Given the description of an element on the screen output the (x, y) to click on. 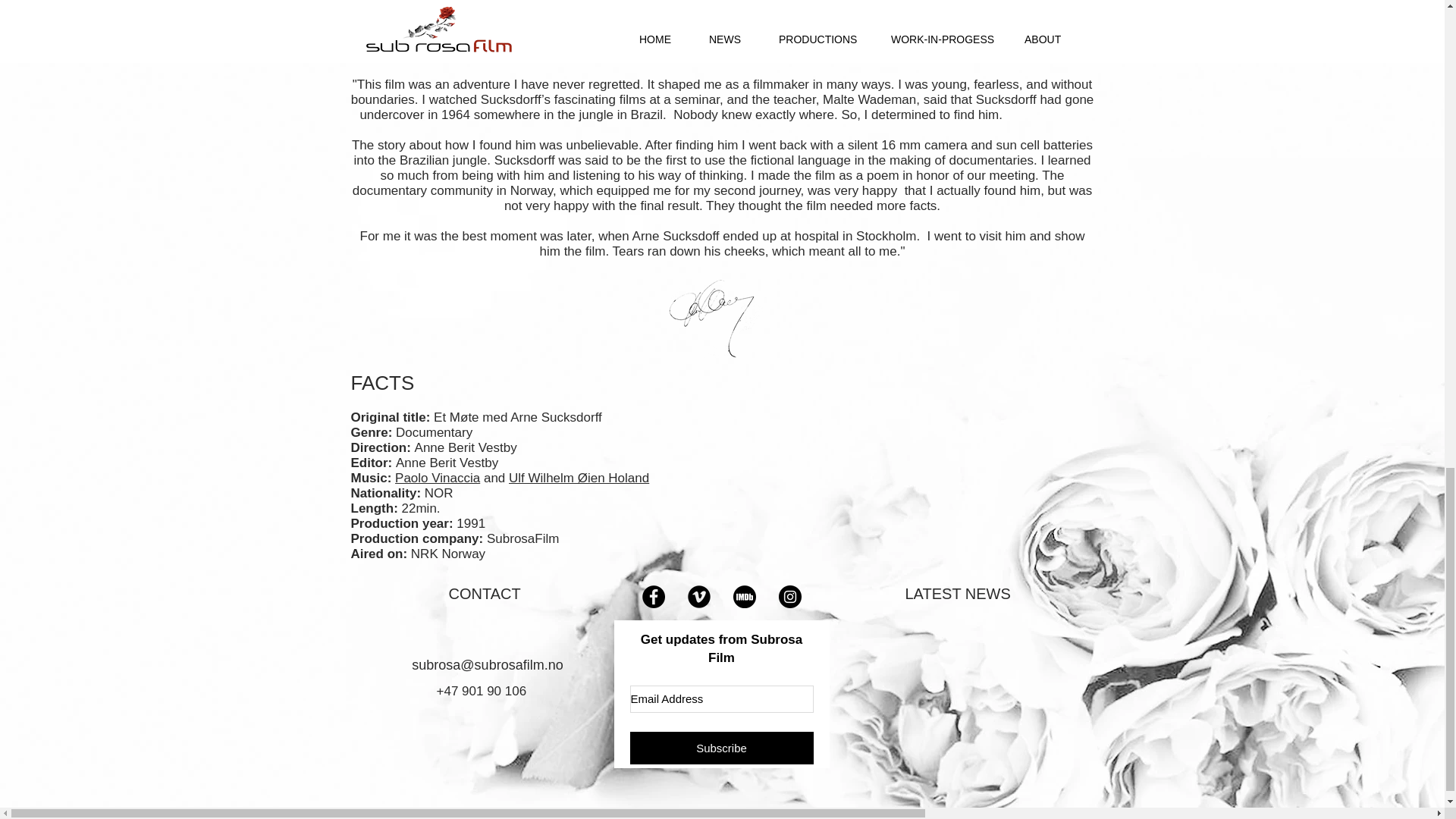
Subscribe (720, 748)
